Given the description of an element on the screen output the (x, y) to click on. 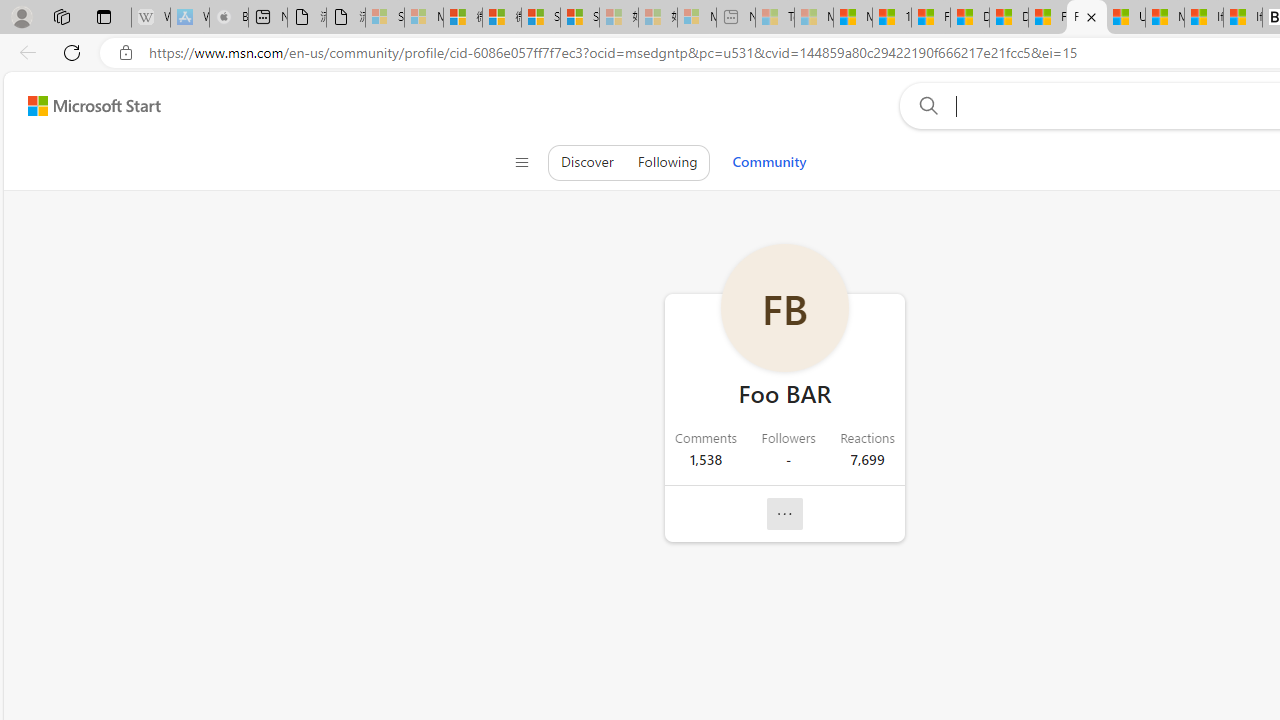
Top Stories - MSN - Sleeping (774, 17)
Community (768, 161)
Microsoft account | Account Checkup - Sleeping (696, 17)
Drinking tea every day is proven to delay biological aging (1008, 17)
US Heat Deaths Soared To Record High Last Year (1126, 17)
Buy iPad - Apple - Sleeping (228, 17)
Foo BAR | Trusted Community Engagement and Contributions (1086, 17)
